Given the description of an element on the screen output the (x, y) to click on. 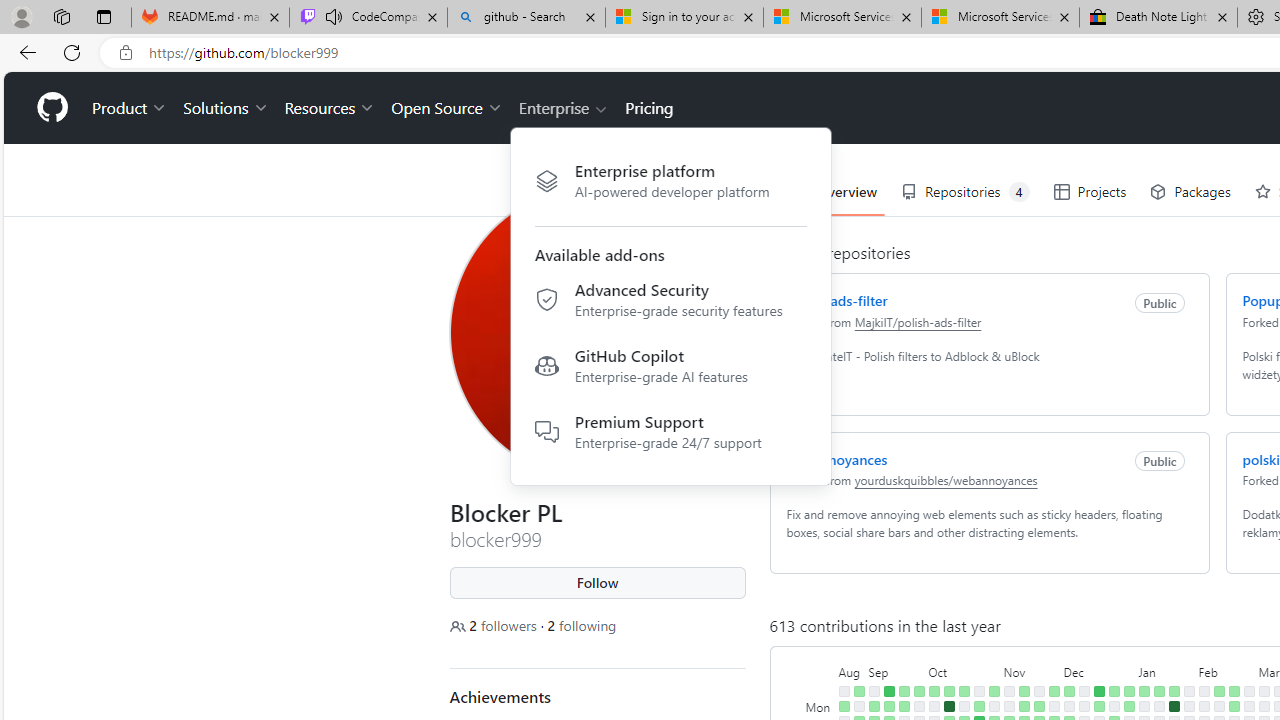
December (1098, 670)
5 contributions on February 18th. (1233, 691)
No contributions on February 26th. (1248, 706)
View blocker999's full-sized avatar (597, 332)
Product (130, 107)
No contributions on March 4th. (1263, 706)
2 contributions on January 21st. (1173, 691)
1 contribution on January 1st. (1128, 706)
3 contributions on January 7th. (1143, 691)
1 contribution on October 1st. (933, 691)
Enterprise platform AI-powered developer platform (669, 180)
No contributions on December 10th. (1083, 691)
Product (130, 107)
22 contributions on October 9th. (948, 706)
Solutions (225, 107)
